Given the description of an element on the screen output the (x, y) to click on. 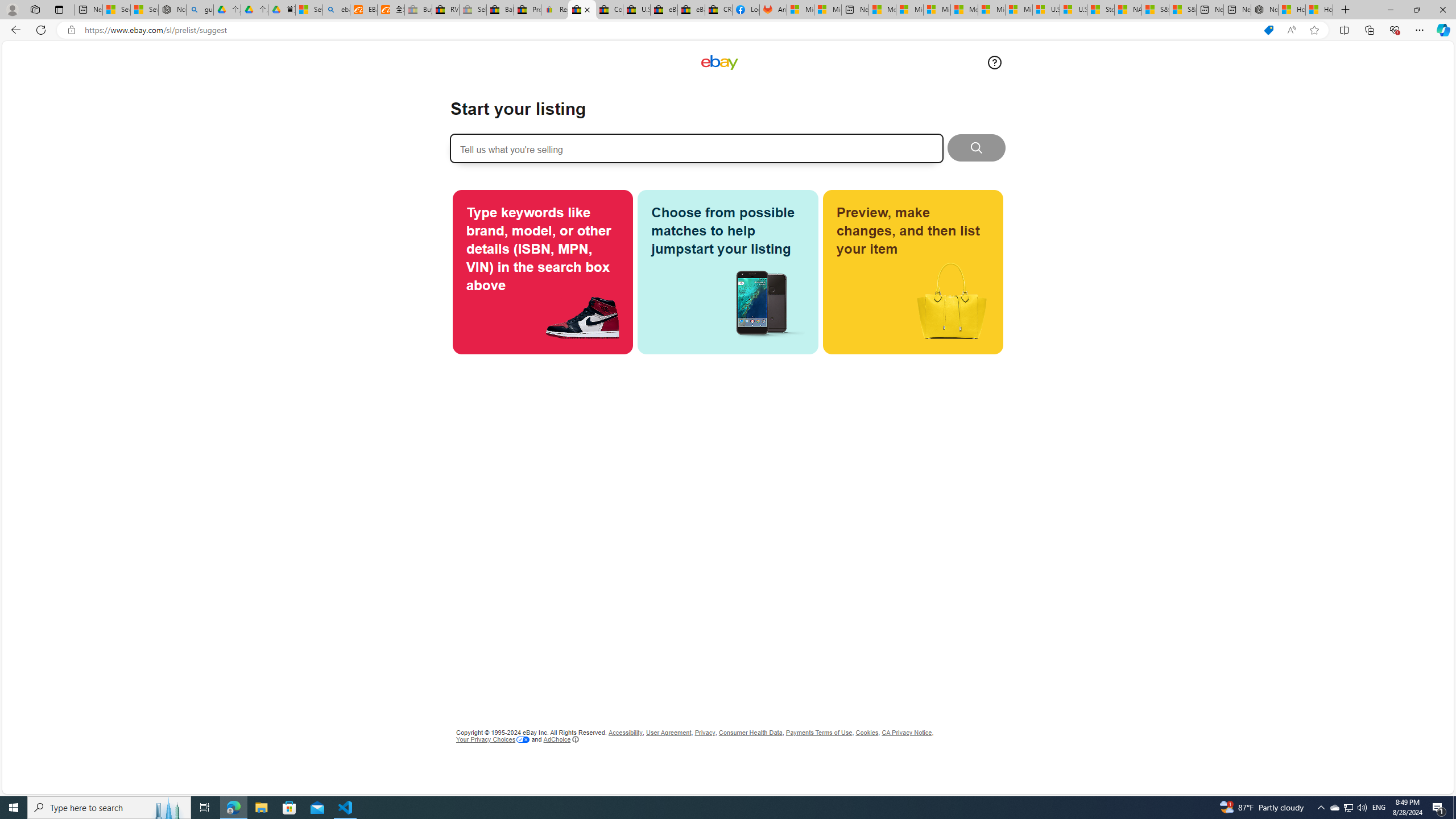
Payments Terms of Use (818, 732)
Register: Create a personal eBay account (554, 9)
Consumer Health Data (750, 732)
